Given the description of an element on the screen output the (x, y) to click on. 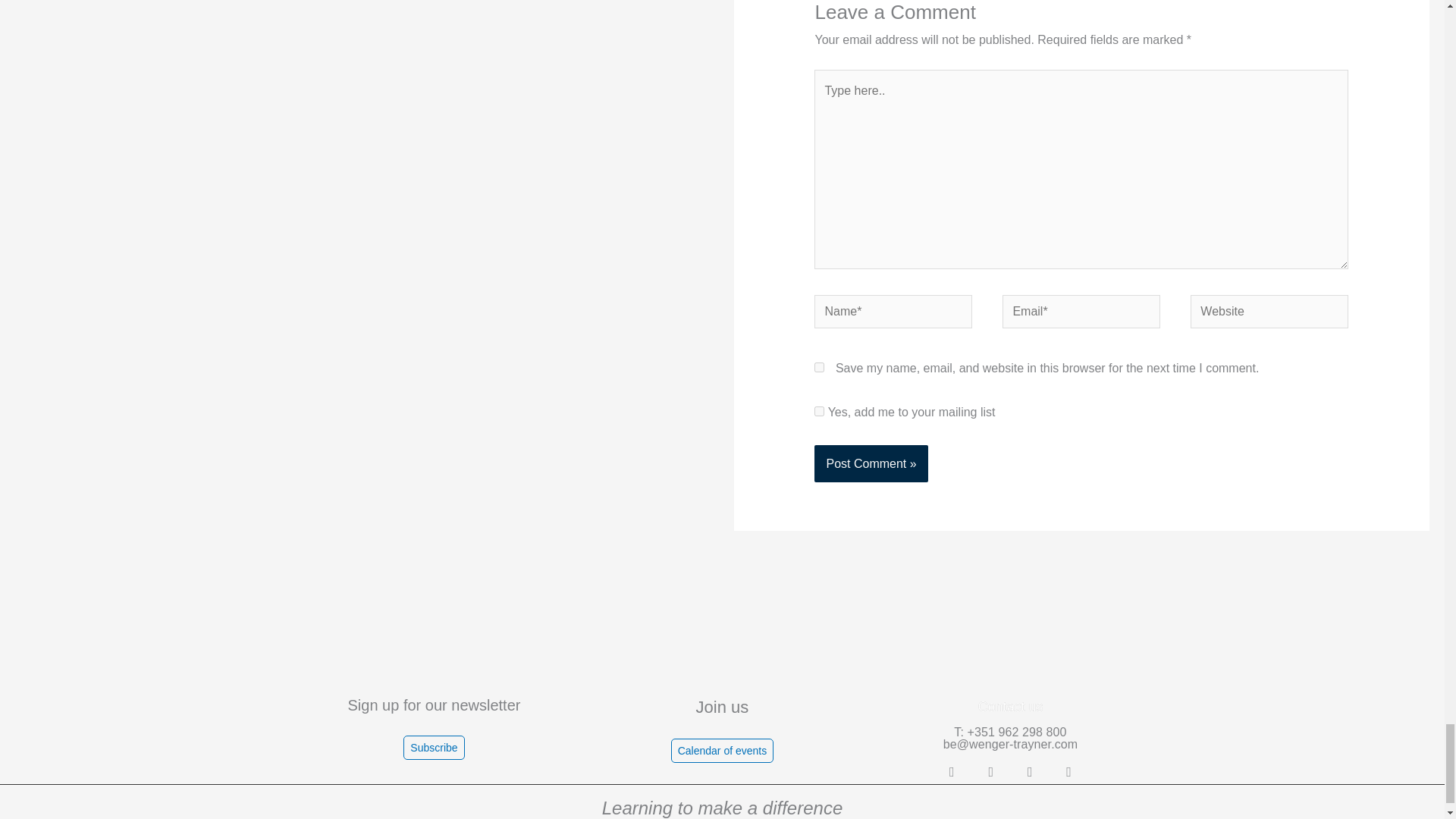
1 (818, 411)
yes (818, 367)
